Given the description of an element on the screen output the (x, y) to click on. 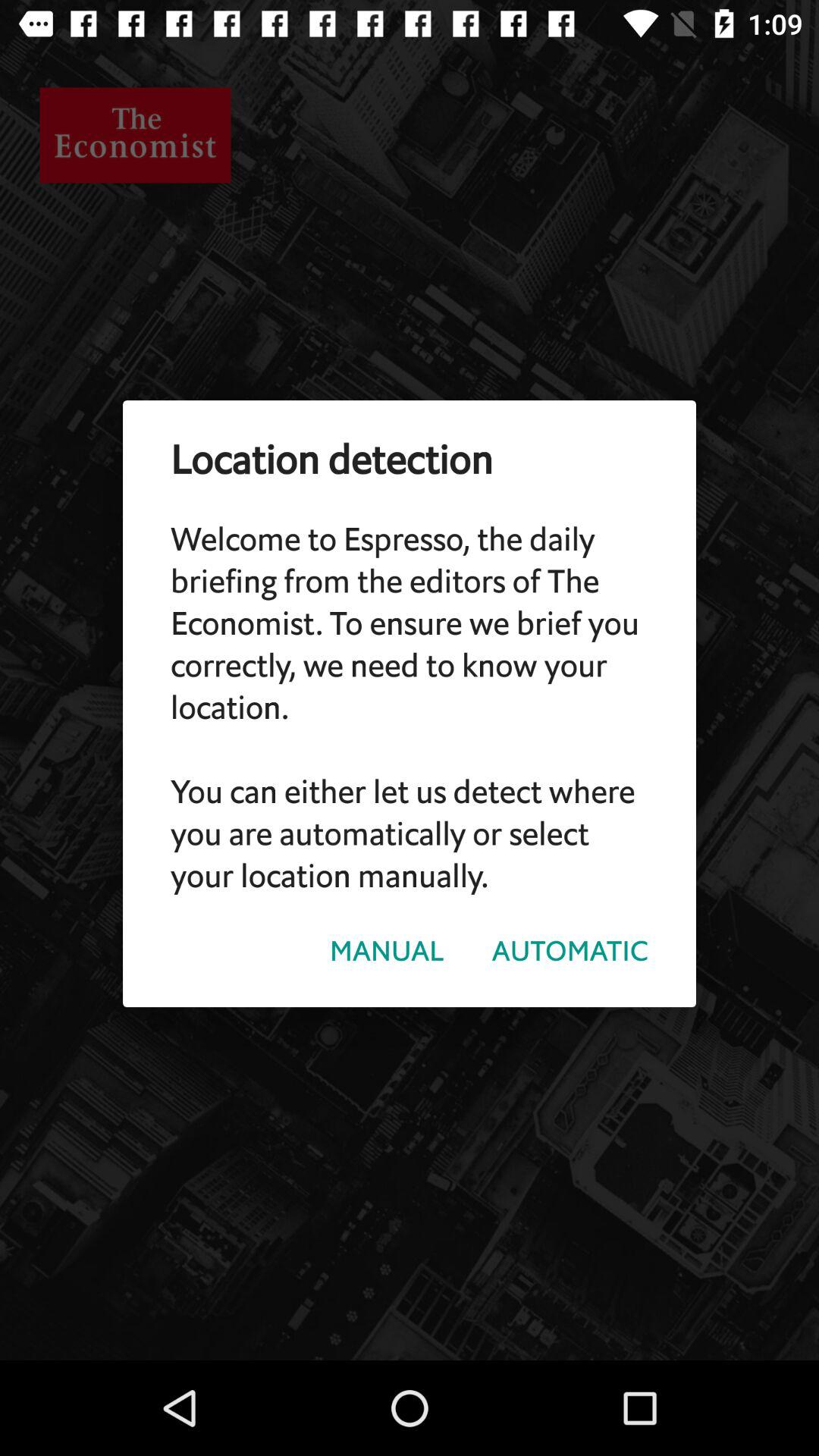
tap item below welcome to espresso app (570, 951)
